Given the description of an element on the screen output the (x, y) to click on. 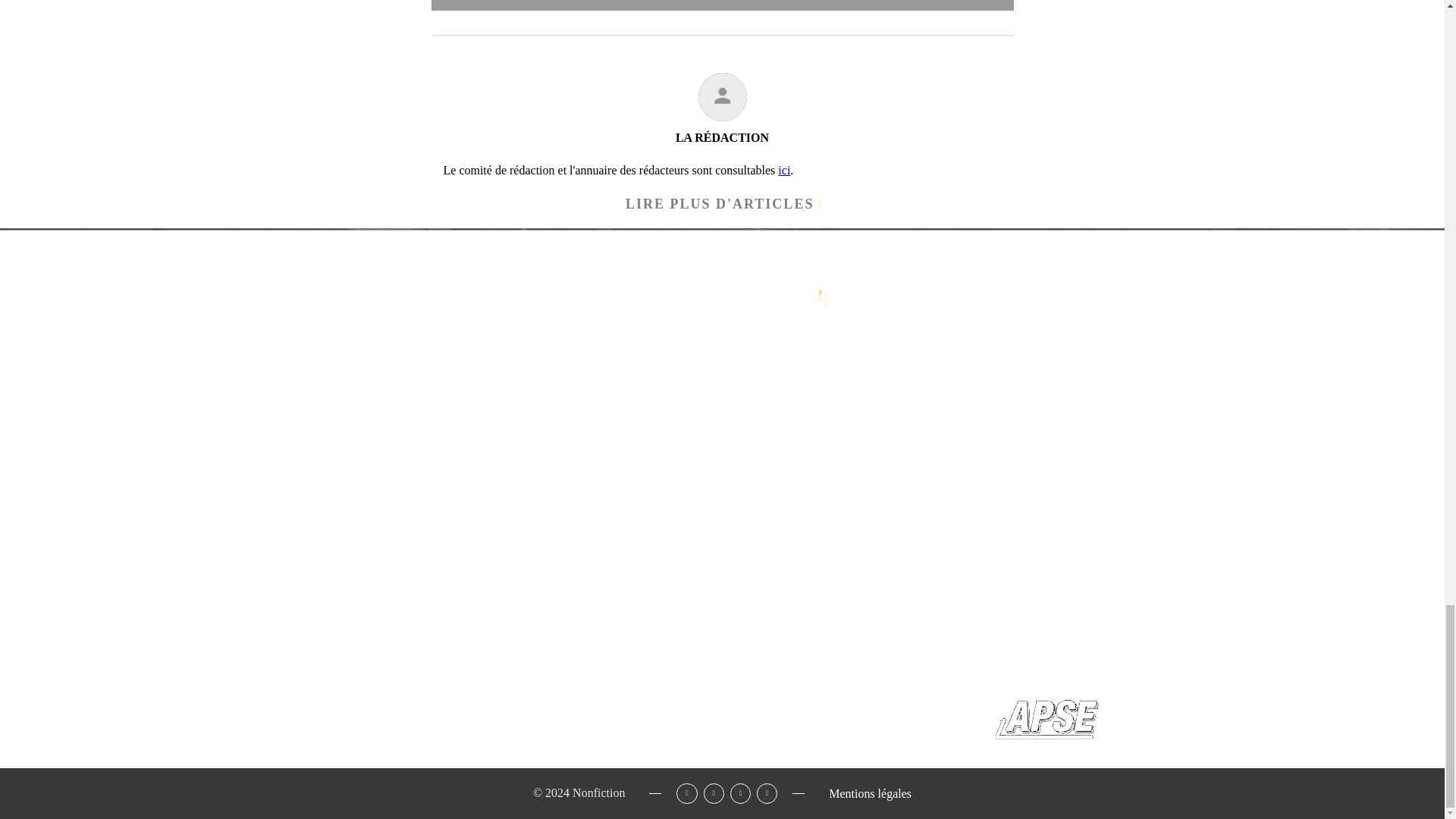
Droit (245, 399)
Monde (415, 399)
Economie (304, 417)
ici (783, 169)
LIRE PLUS D'ARTICLES (721, 204)
Politique (255, 435)
Sciences (291, 399)
ESPACE (423, 366)
